Given the description of an element on the screen output the (x, y) to click on. 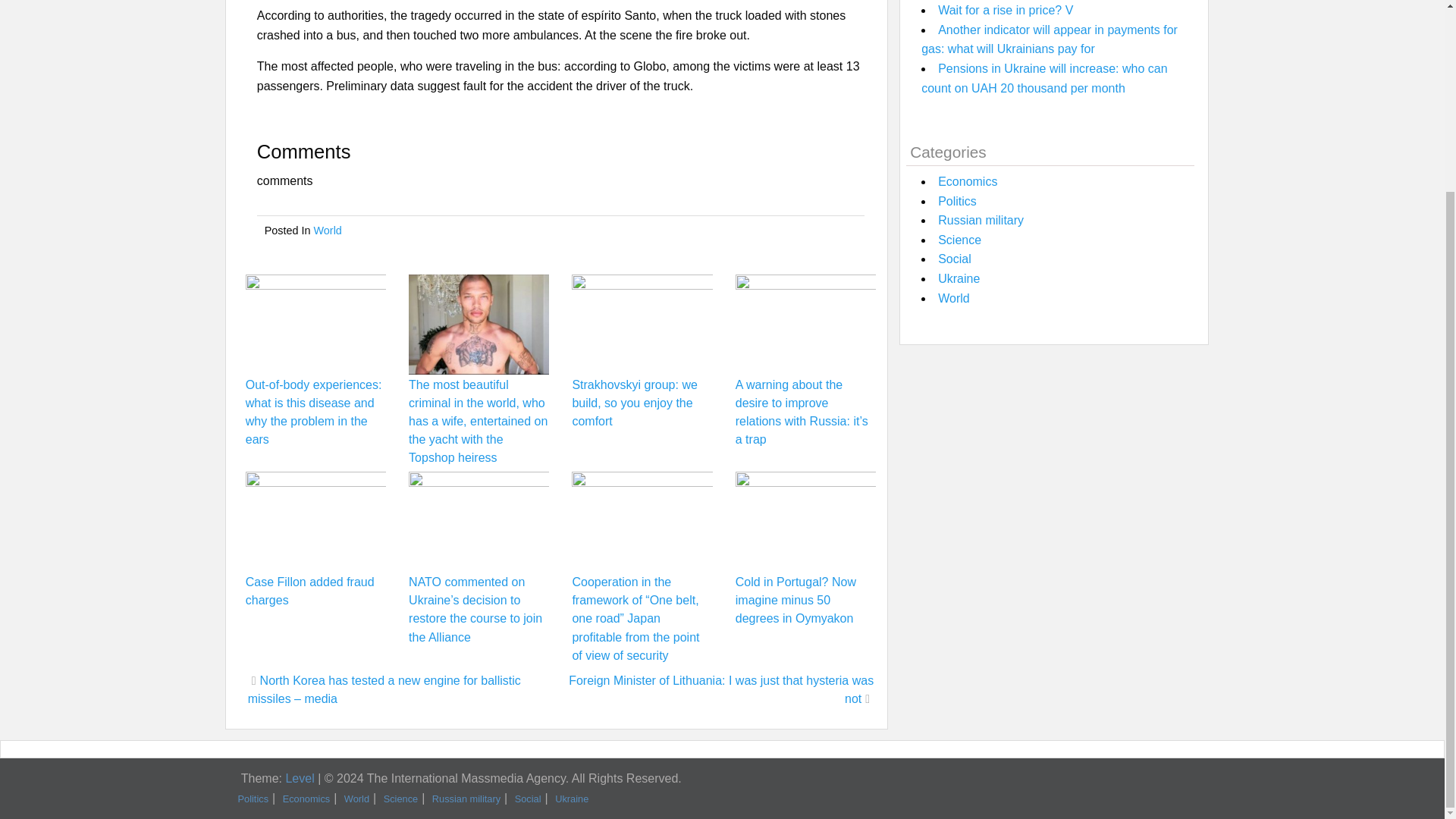
Strakhovskyi group: we build, so you enjoy the comfort (634, 402)
World (328, 230)
Case Fillon added fraud charges (310, 590)
Strakhovskyi group: we build, so you enjoy the comfort (634, 402)
